Given the description of an element on the screen output the (x, y) to click on. 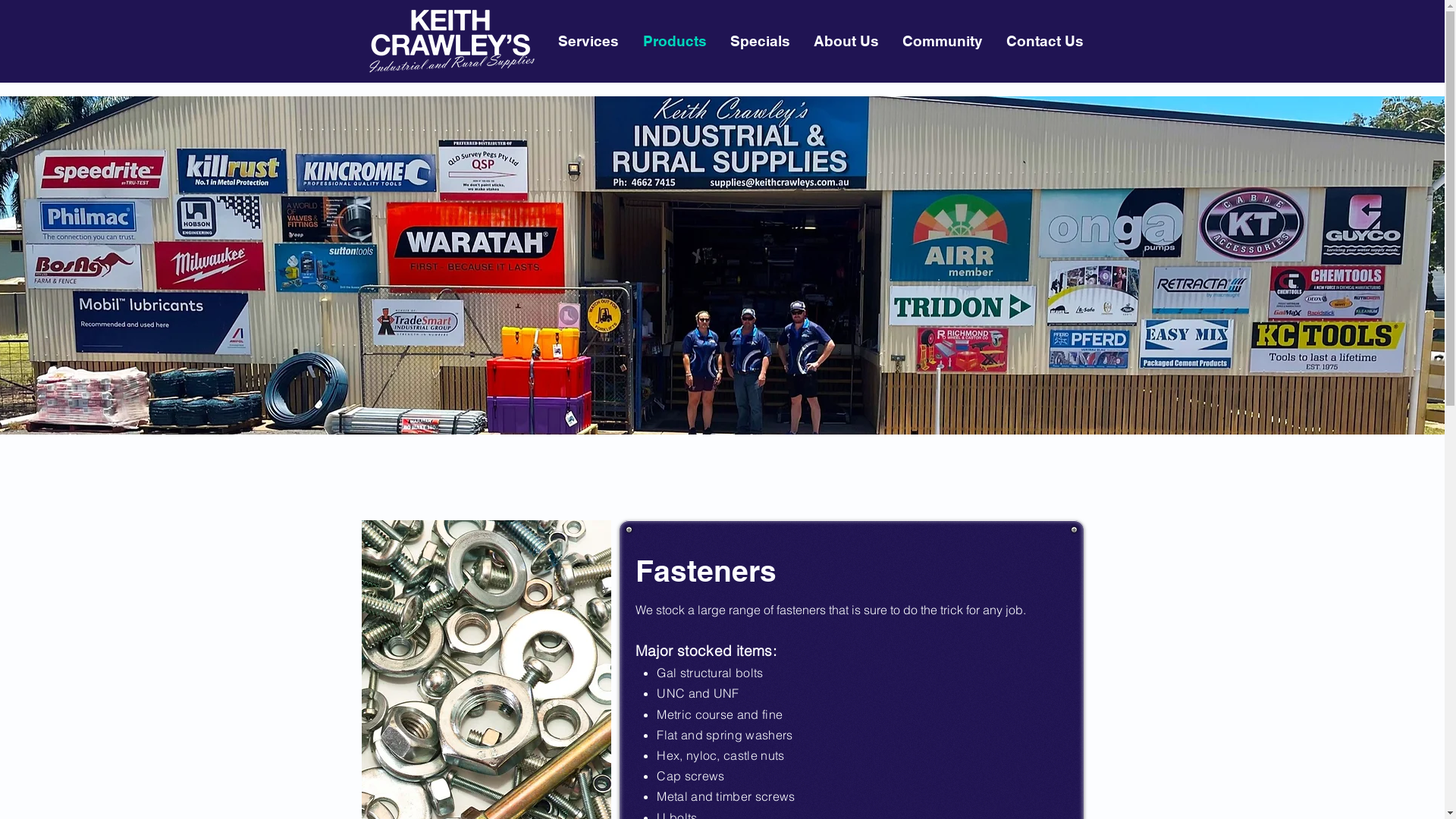
About Us Element type: text (844, 40)
Specials Element type: text (758, 40)
Services Element type: text (586, 40)
Contact Us Element type: text (1043, 40)
Products Element type: text (673, 40)
Community Element type: text (942, 40)
